Given the description of an element on the screen output the (x, y) to click on. 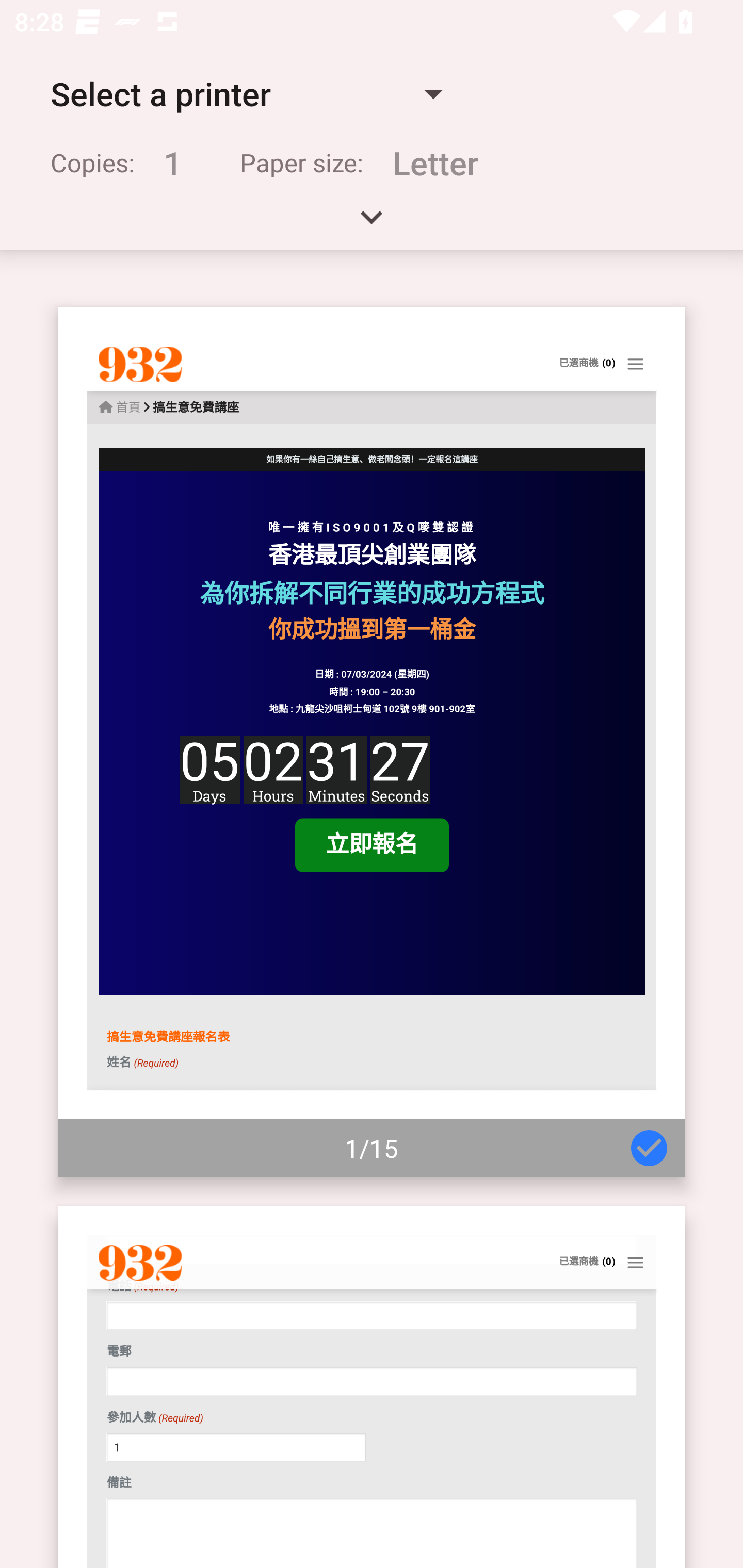
Select a printer (245, 93)
Expand handle (371, 224)
Page 1 of 15 1/15 (371, 742)
Page 2 of 15 (371, 1386)
